Given the description of an element on the screen output the (x, y) to click on. 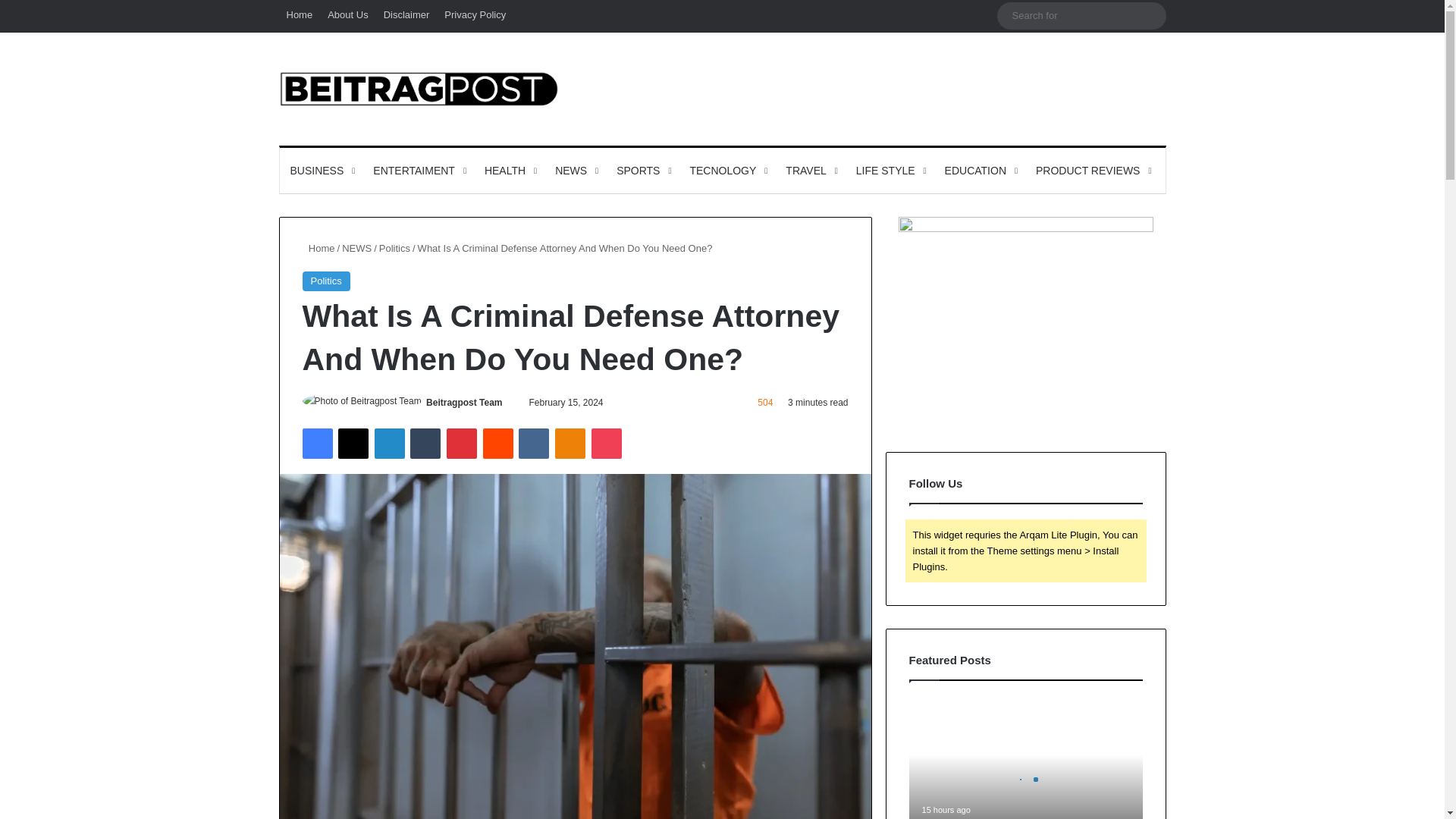
Privacy Policy (474, 15)
VKontakte (533, 443)
Search for (1081, 15)
HEALTH (509, 170)
Home (299, 15)
Beitragpost Team (464, 402)
Pinterest (461, 443)
Search for (1150, 15)
Beitrag Post (419, 88)
Odnoklassniki (569, 443)
